Given the description of an element on the screen output the (x, y) to click on. 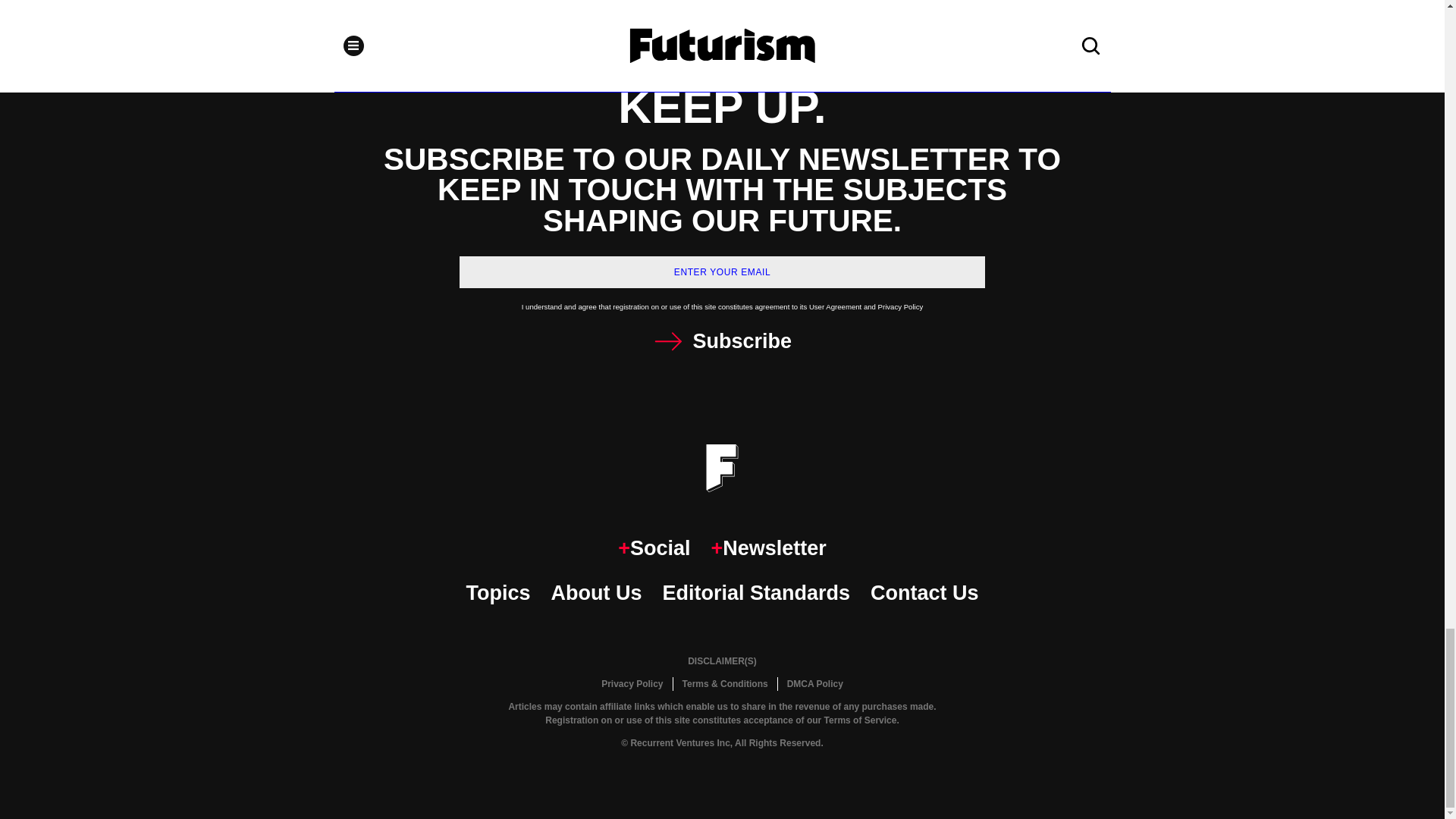
Privacy Policy (631, 684)
DMCA Policy (814, 684)
About Us (596, 593)
Contact Us (924, 593)
Editorial Standards (756, 593)
Topics (497, 593)
Subscribe (722, 341)
